Given the description of an element on the screen output the (x, y) to click on. 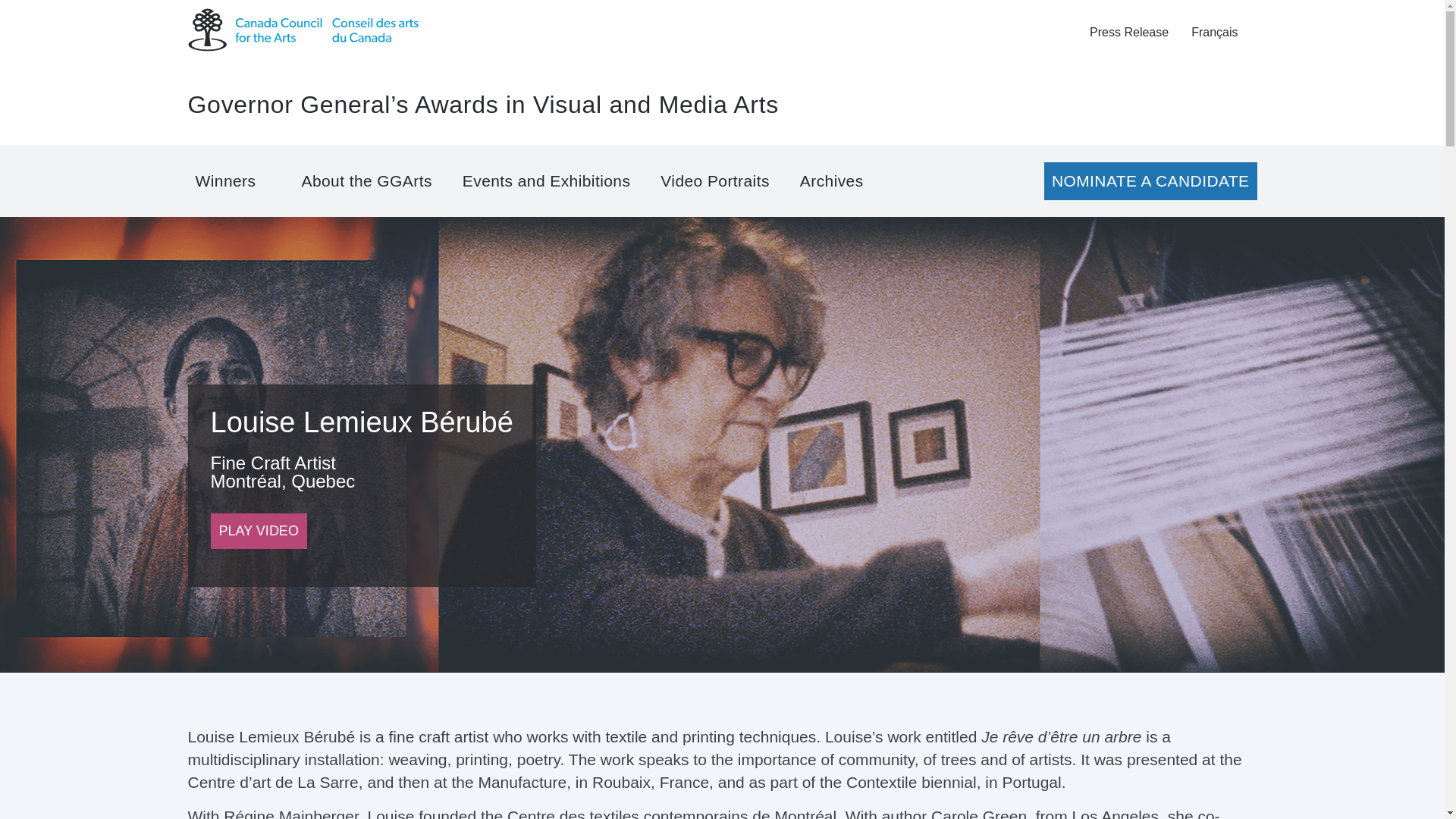
Canada Council for the Arts - Conseil des arts du Canada (303, 32)
Winners (233, 180)
NOMINATE A CANDIDATE (1150, 180)
Events and Exhibitions (545, 180)
Video Portraits (714, 180)
Canada Council for the Arts - Conseil des arts du Canada (303, 29)
About the GGArts (366, 180)
Archives (837, 180)
PLAY VIDEO (259, 531)
Press Release (1129, 32)
